Given the description of an element on the screen output the (x, y) to click on. 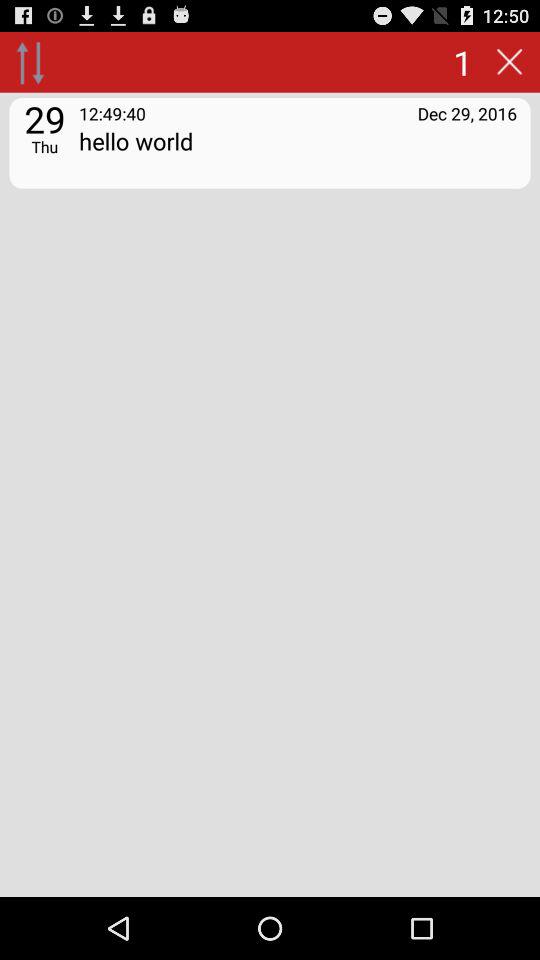
select the close bar (509, 61)
